Given the description of an element on the screen output the (x, y) to click on. 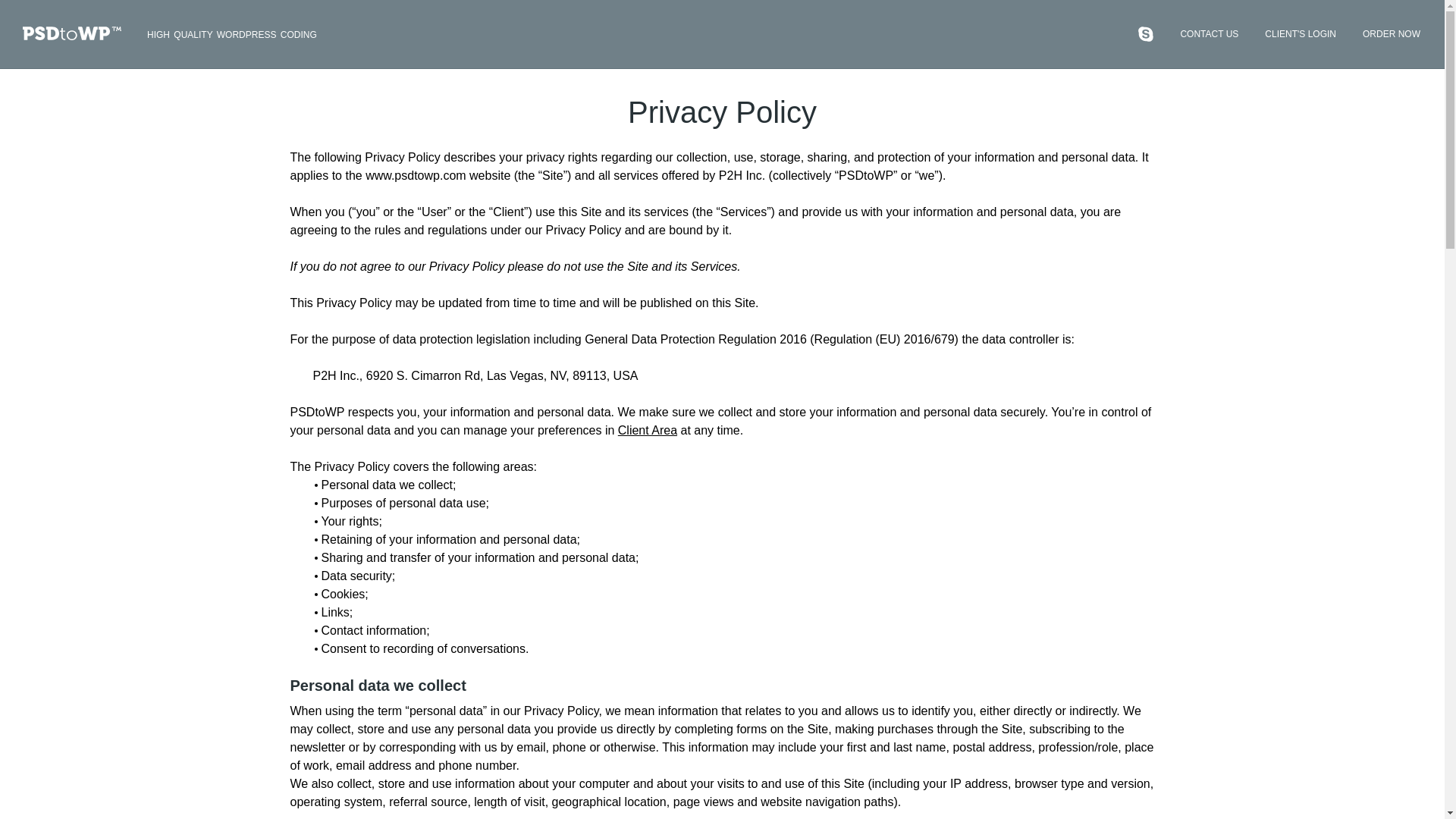
SKYPE (1145, 33)
CLIENT'S LOGIN (1300, 36)
Client Area (647, 430)
CONTACT US (1209, 36)
ORDER NOW (1391, 36)
